Given the description of an element on the screen output the (x, y) to click on. 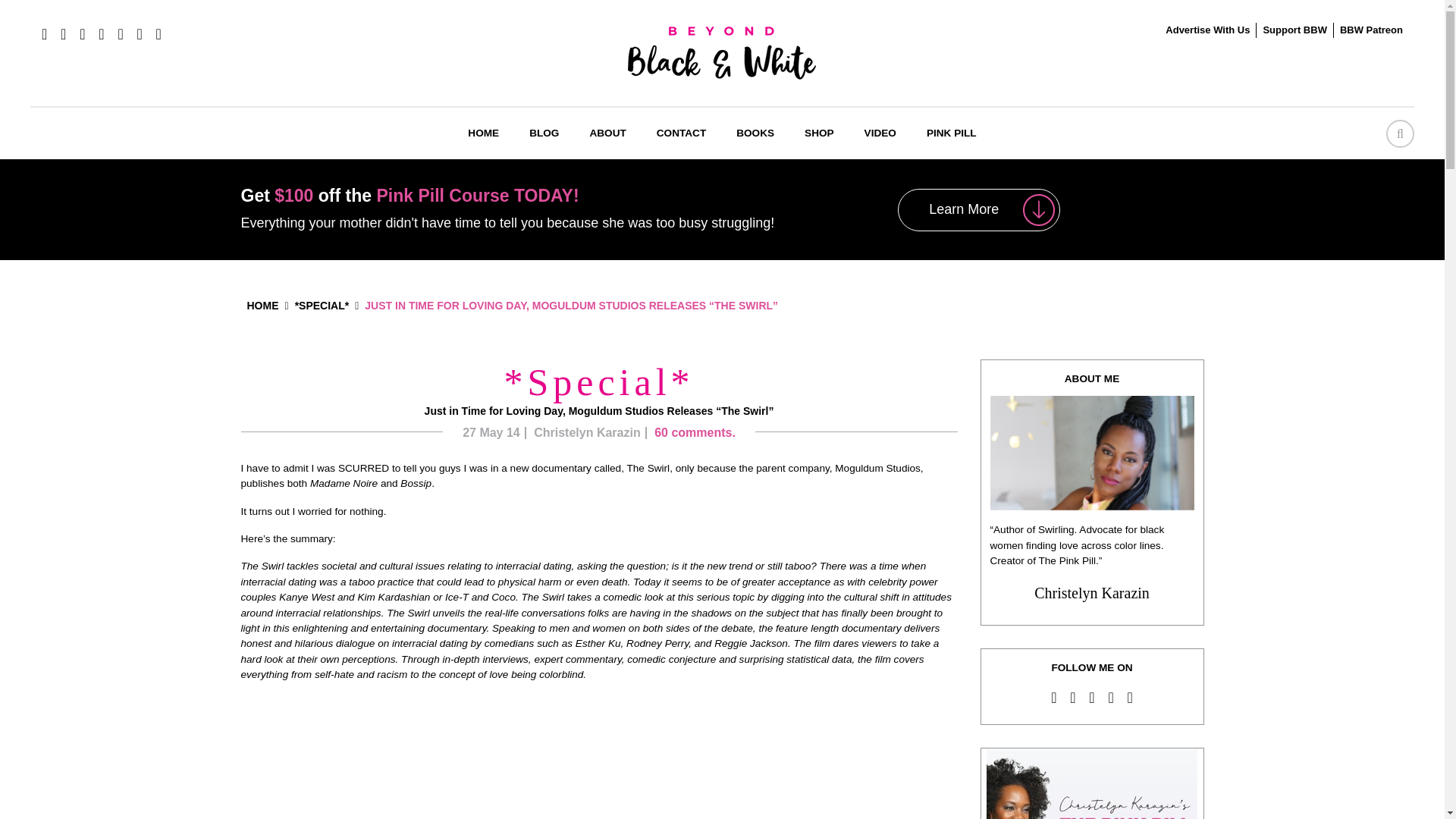
VIDEO (879, 132)
BBW Patreon (1371, 30)
BLOG (543, 132)
SHOP (818, 132)
CONTACT (681, 132)
ABOUT (606, 132)
BOOKS (754, 132)
PINK PILL (951, 132)
Advertise With Us (1207, 30)
Support BBW (1294, 30)
HOME (482, 132)
